Given the description of an element on the screen output the (x, y) to click on. 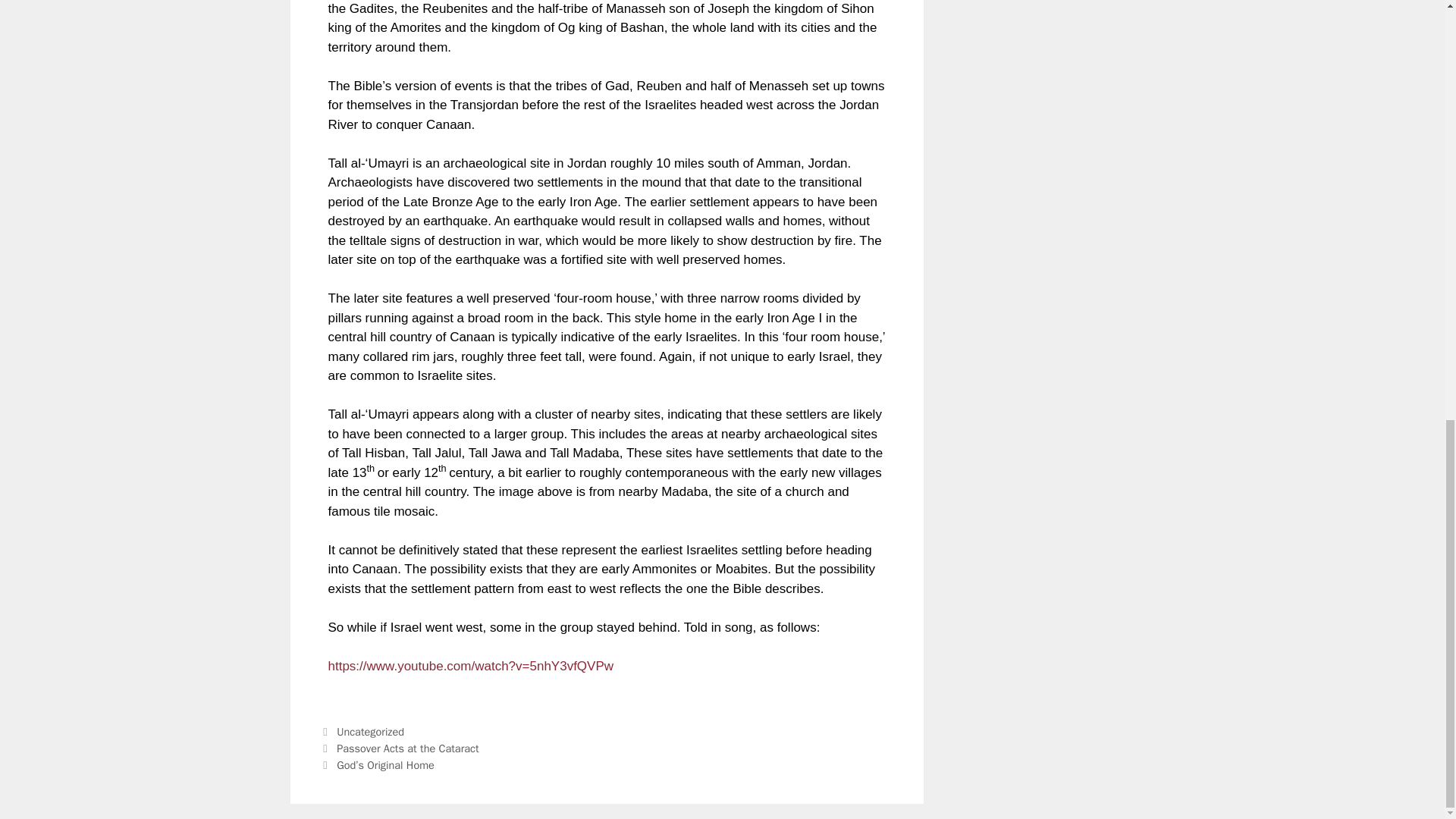
Uncategorized (370, 731)
Passover Acts at the Cataract (407, 748)
Previous (399, 748)
Next (376, 765)
